Given the description of an element on the screen output the (x, y) to click on. 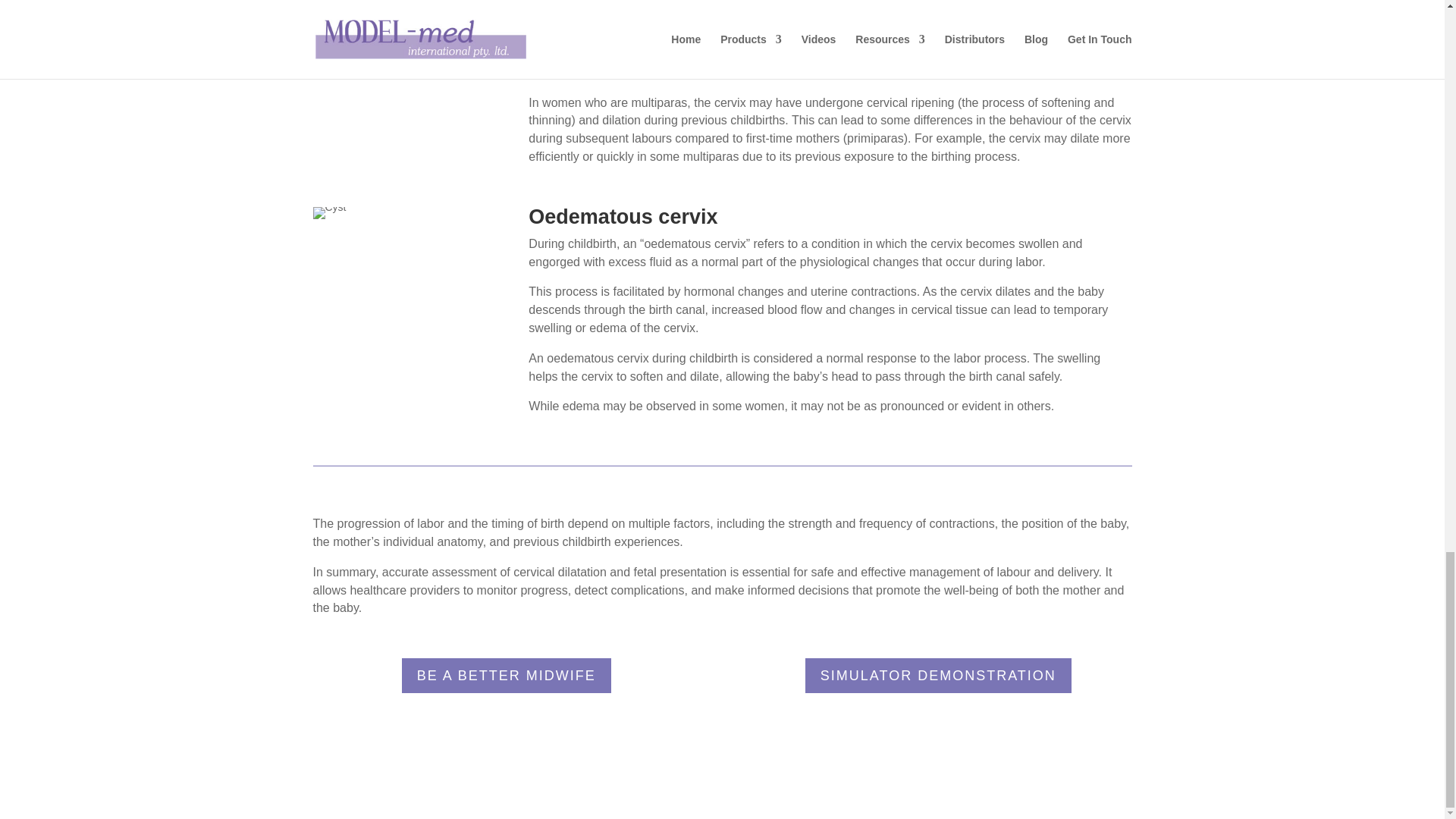
SIMULATOR DEMONSTRATION (938, 675)
BE A BETTER MIDWIFE (506, 675)
